Given the description of an element on the screen output the (x, y) to click on. 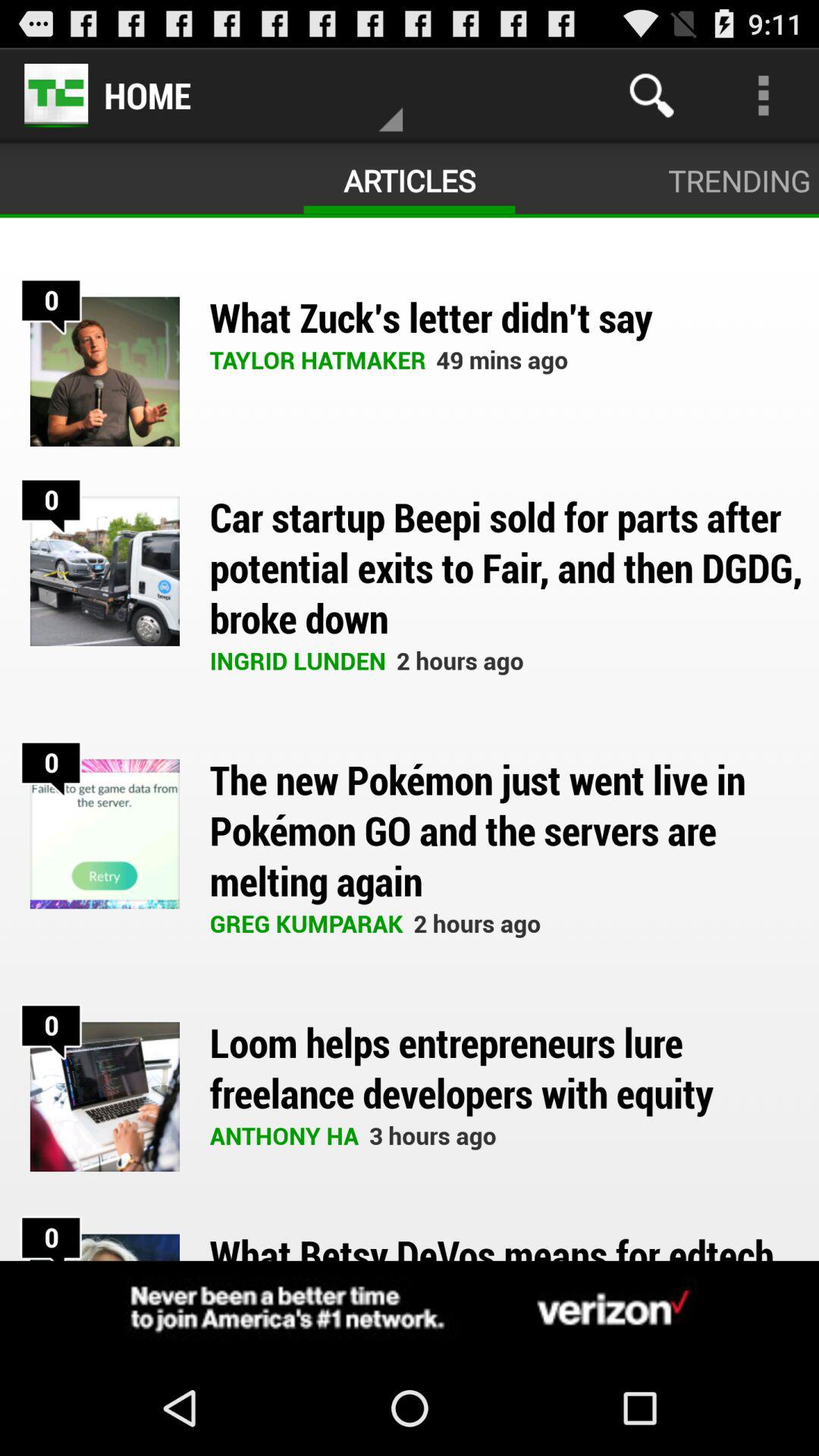
advancement (409, 1310)
